Given the description of an element on the screen output the (x, y) to click on. 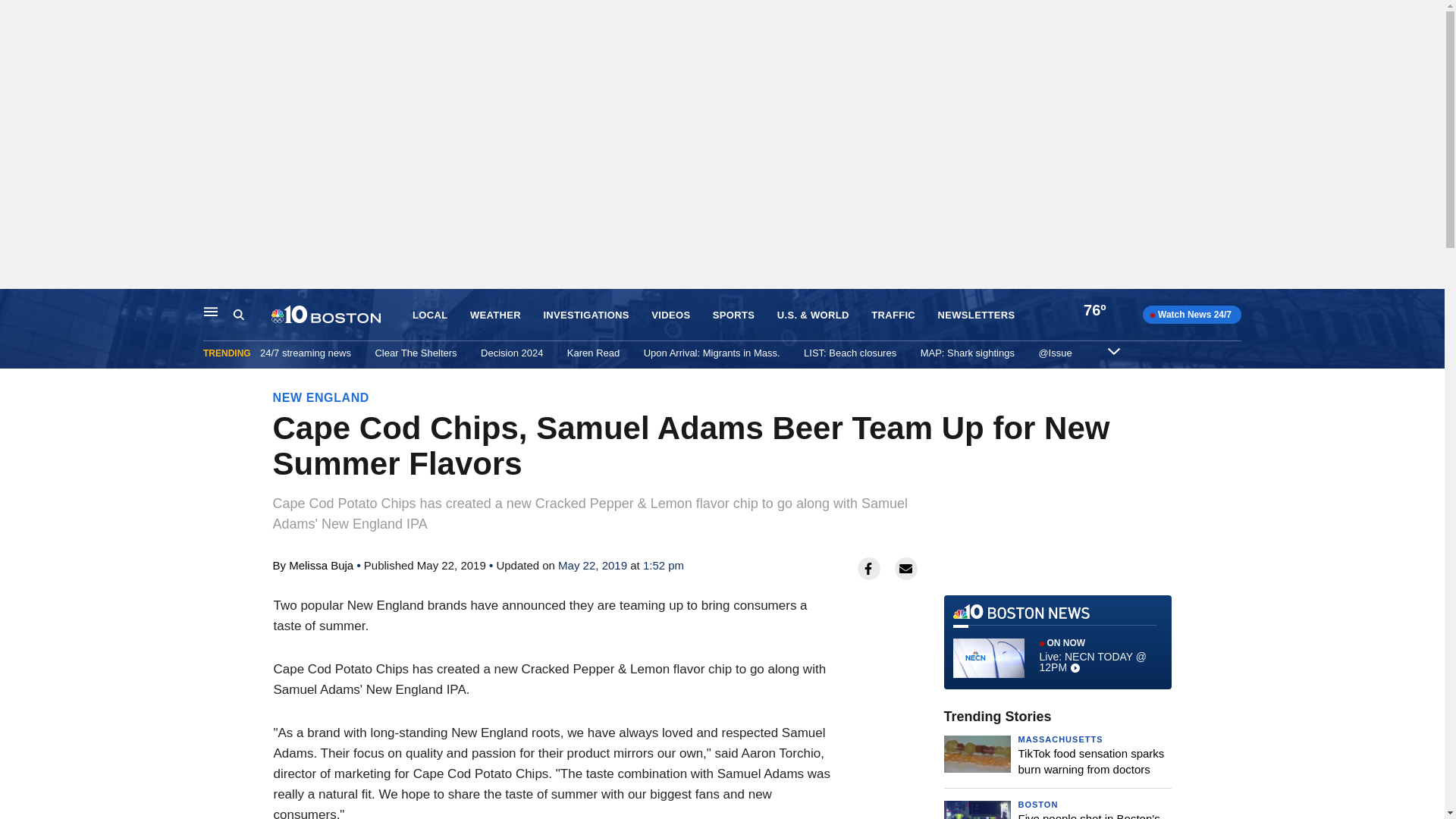
LOCAL (429, 315)
NEW ENGLAND (321, 397)
VIDEOS (670, 315)
MAP: Shark sightings (967, 352)
MASSACHUSETTS (1059, 738)
INVESTIGATIONS (585, 315)
Skip to content (16, 304)
Search (252, 314)
Karen Read (593, 352)
Expand (1113, 350)
